Given the description of an element on the screen output the (x, y) to click on. 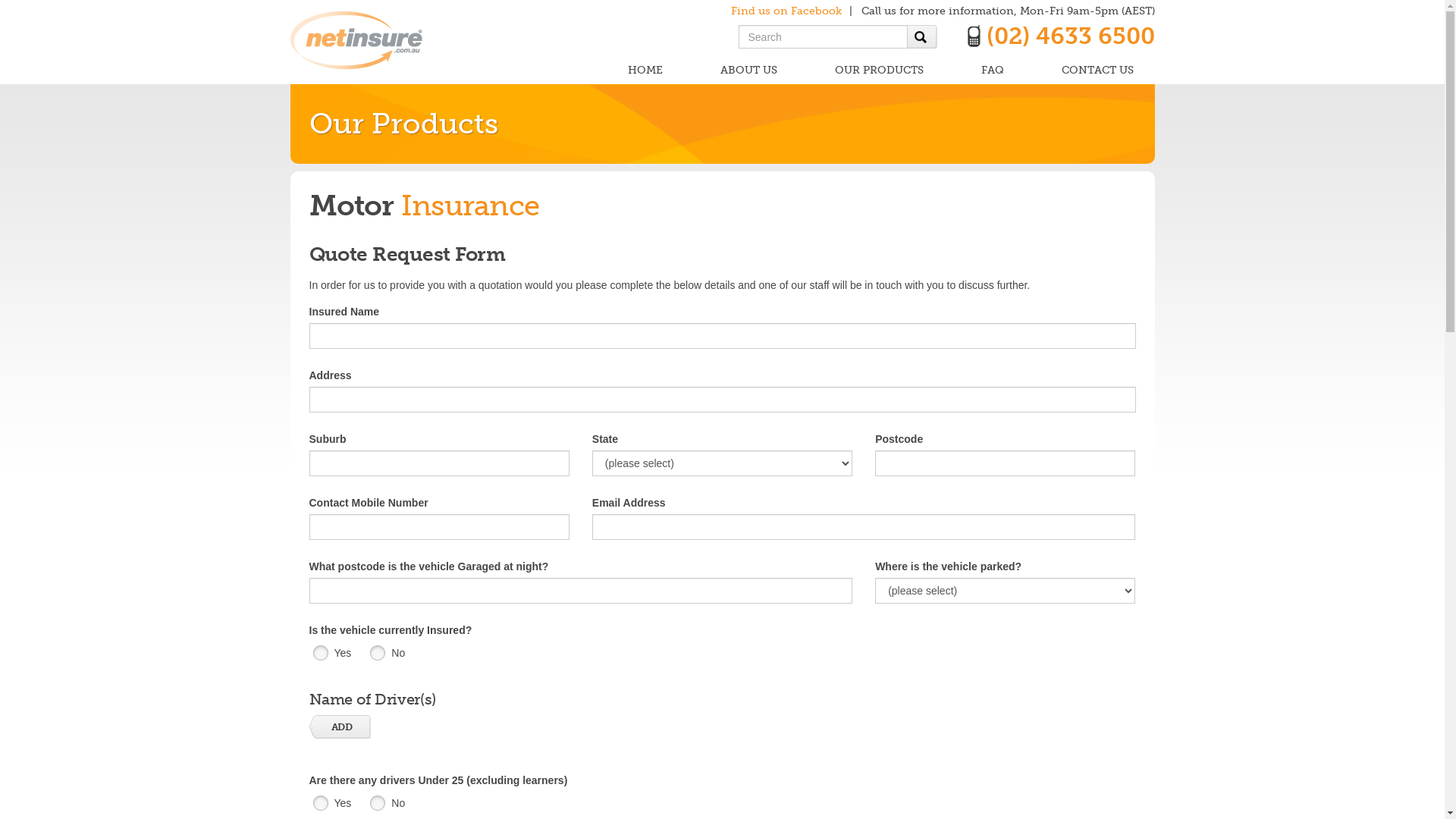
Find us on Facebook Element type: text (786, 10)
OUR PRODUCTS Element type: text (878, 70)
CONTACT US Element type: text (1097, 70)
FAQ Element type: text (992, 70)
HOME Element type: text (645, 70)
ABOUT US Element type: text (748, 70)
ADD Element type: text (339, 726)
